Given the description of an element on the screen output the (x, y) to click on. 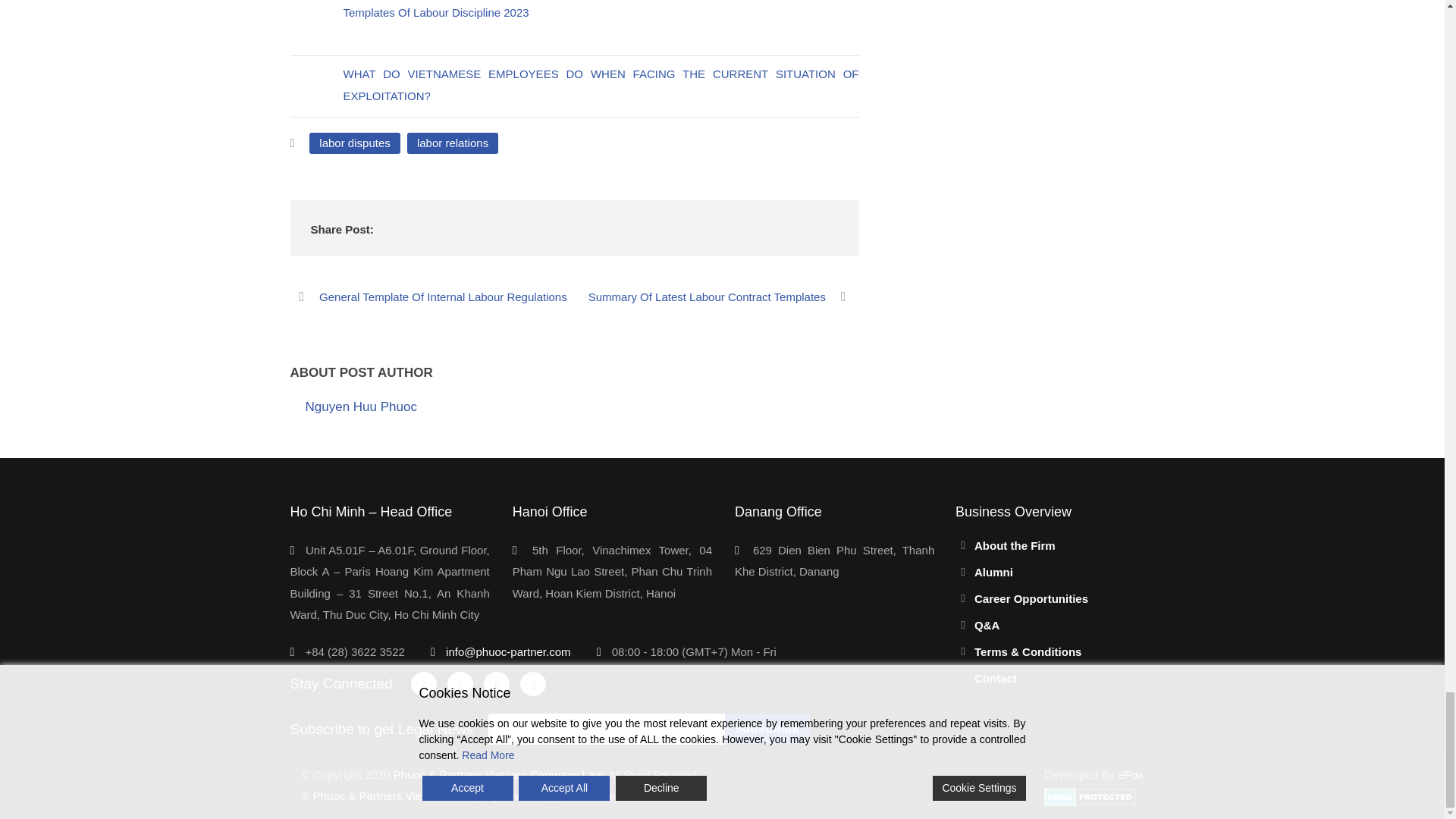
DMCA.com Protection Status (1089, 795)
Subscribe (767, 728)
Posts by Nguyen Huu Phuoc (360, 406)
